Given the description of an element on the screen output the (x, y) to click on. 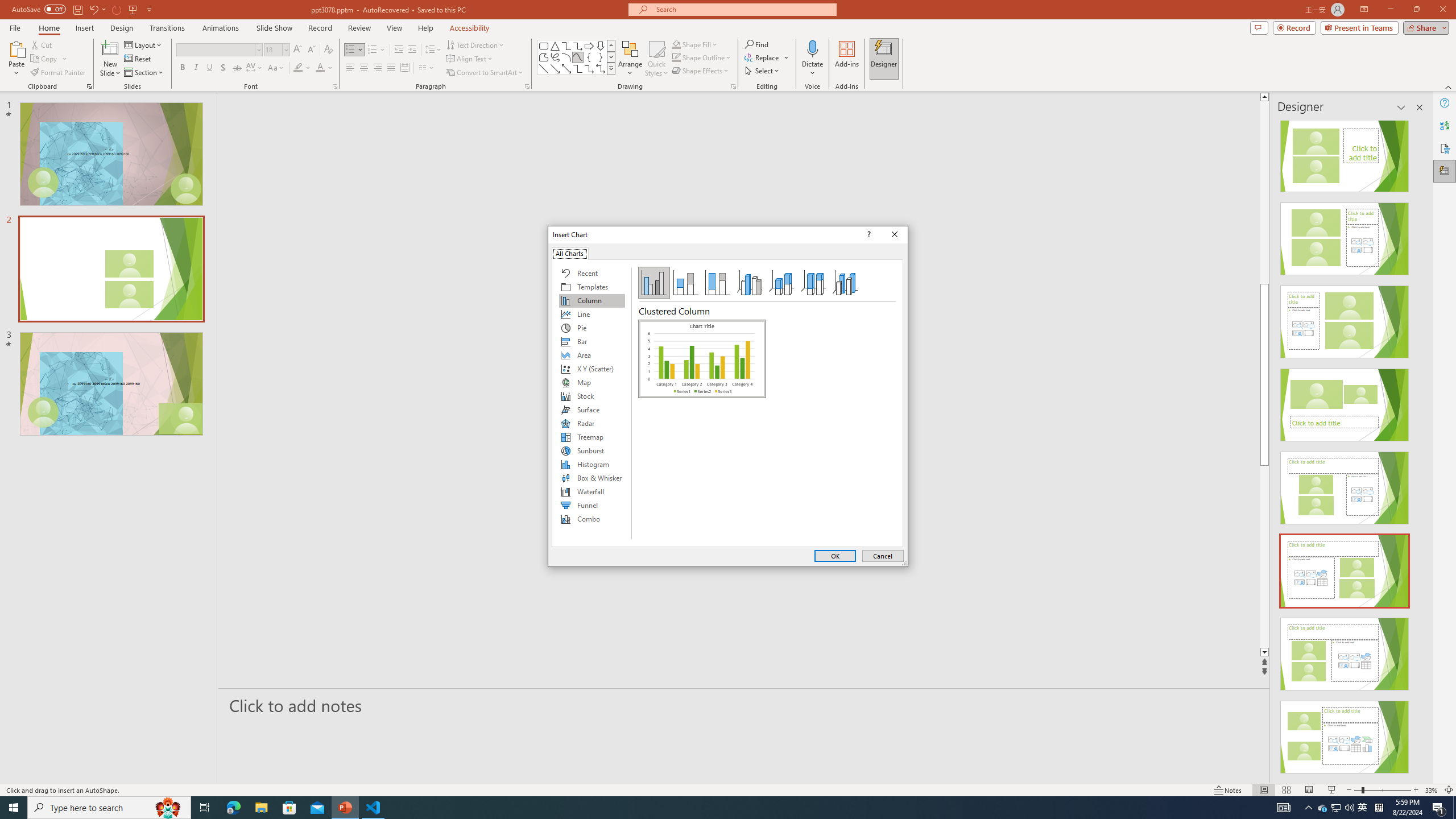
Area (591, 354)
Shape Outline Green, Accent 1 (675, 56)
Combo (591, 518)
